Given the description of an element on the screen output the (x, y) to click on. 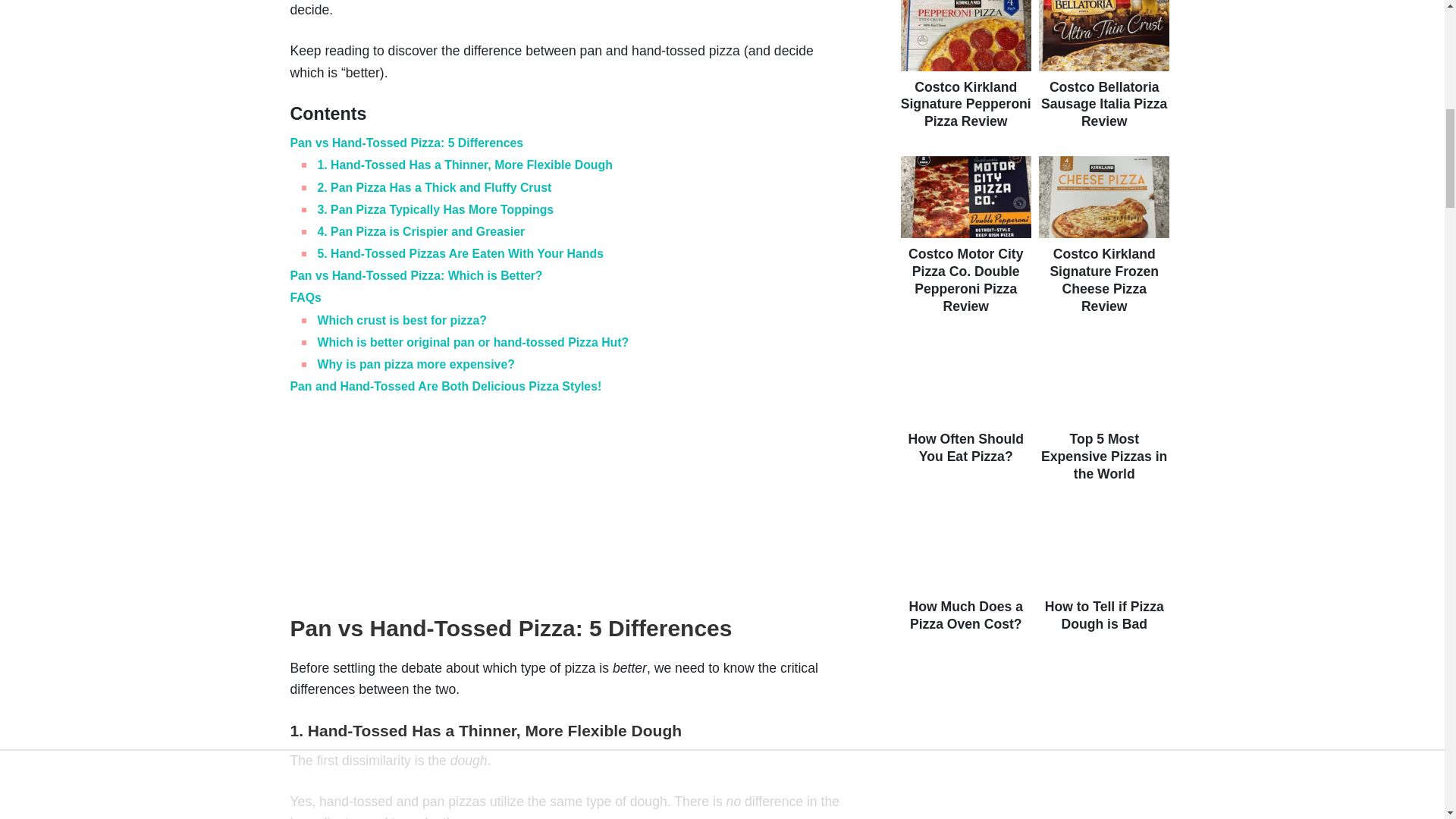
Which is better original pan or hand-tossed Pizza Hut? (472, 341)
FAQs (304, 297)
Pan and Hand-Tossed Are Both Delicious Pizza Styles! (445, 386)
Why is pan pizza more expensive? (415, 364)
5. Hand-Tossed Pizzas Are Eaten With Your Hands (459, 253)
4. Pan Pizza is Crispier and Greasier (420, 231)
Which crust is best for pizza? (401, 319)
1. Hand-Tossed Has a Thinner, More Flexible Dough (464, 164)
Pan vs Hand-Tossed Pizza: 5 Differences (405, 142)
3. Pan Pizza Typically Has More Toppings (435, 209)
